Given the description of an element on the screen output the (x, y) to click on. 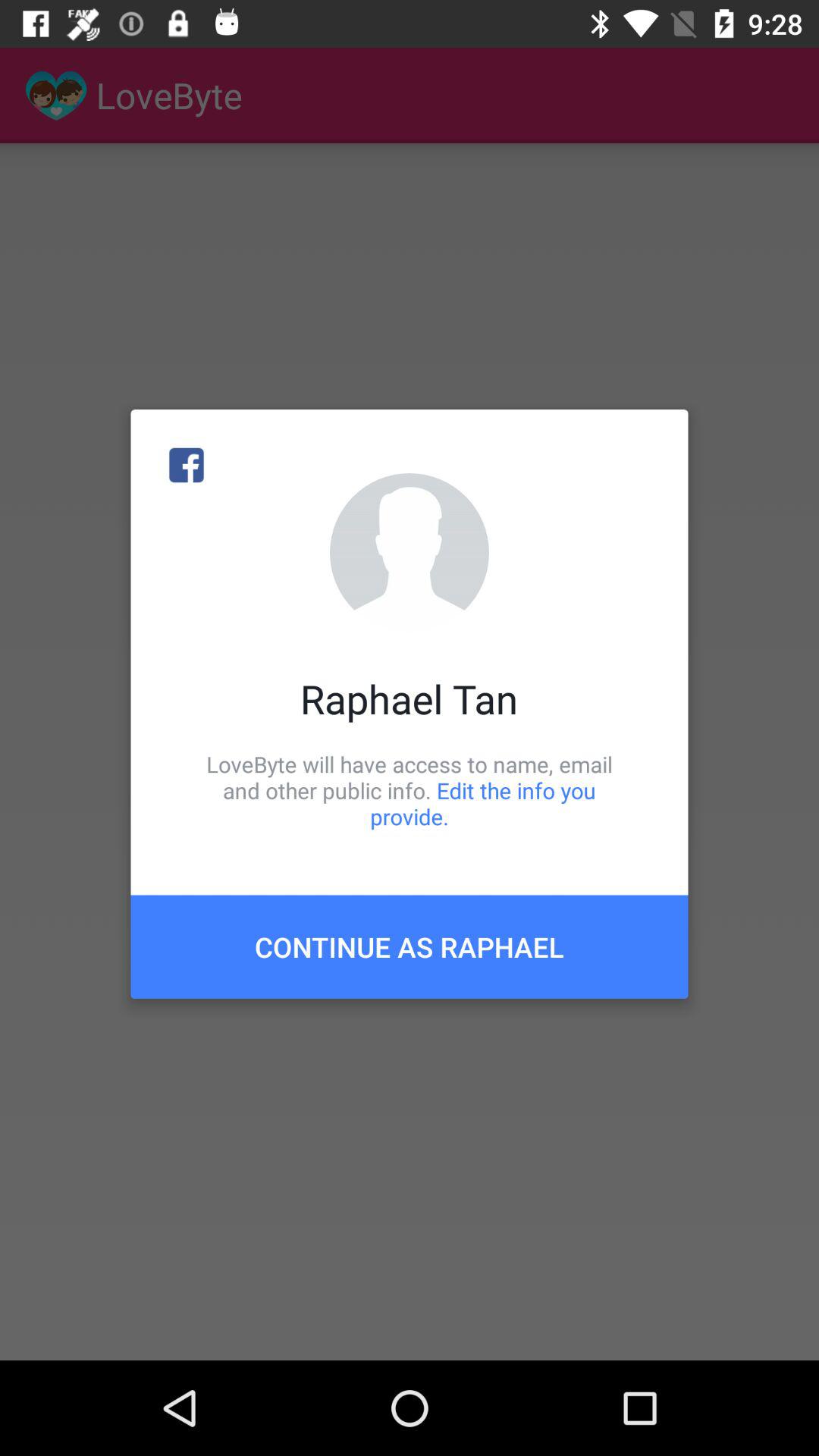
swipe until lovebyte will have item (409, 790)
